Given the description of an element on the screen output the (x, y) to click on. 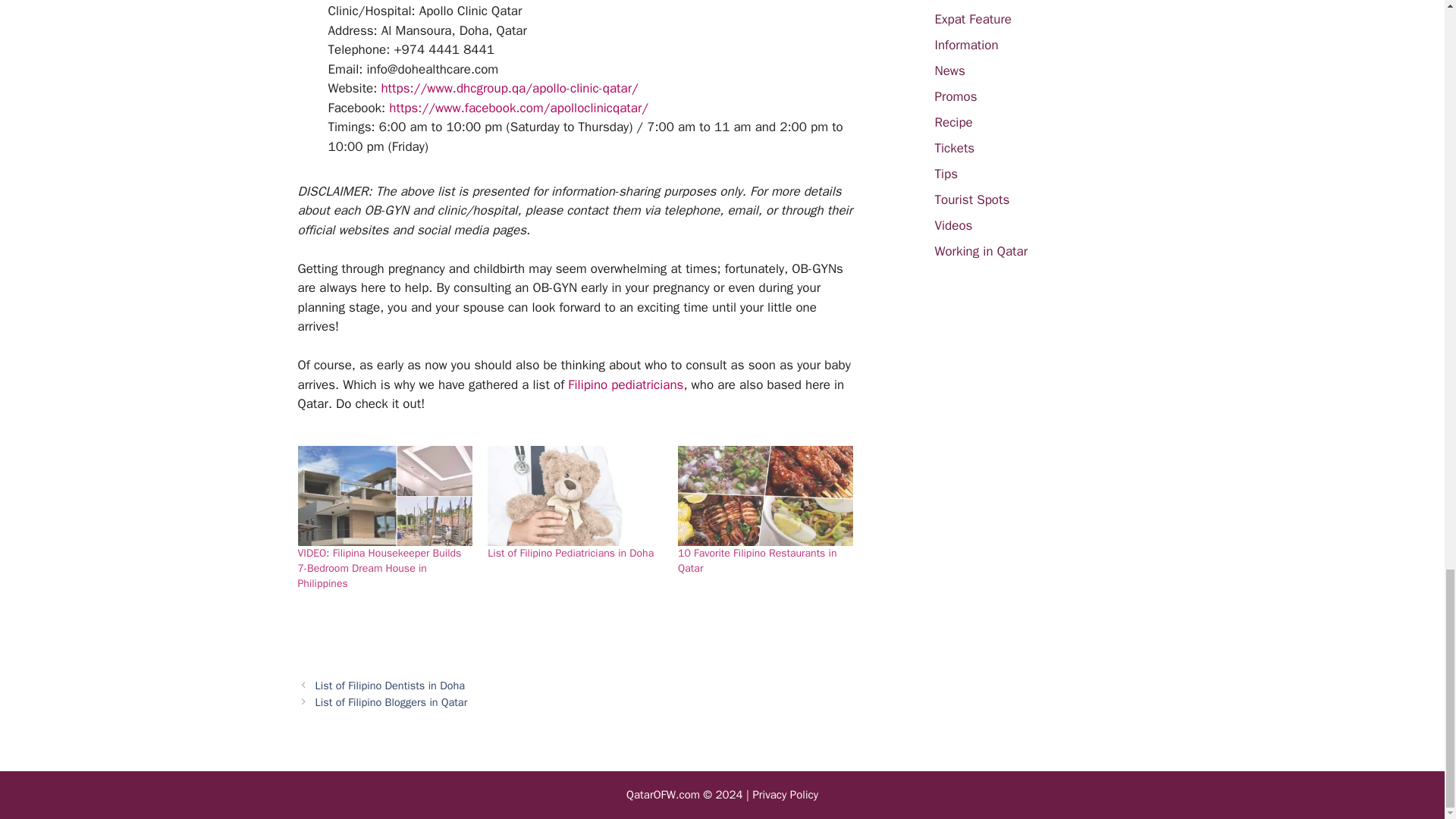
Events (953, 0)
List of Filipino Dentists in Doha (390, 685)
List of Filipino Pediatricians in Doha (570, 553)
10 Favorite Filipino Restaurants in Qatar (756, 560)
Filipino pediatricians (624, 384)
List of Filipino Bloggers in Qatar (391, 702)
